Given the description of an element on the screen output the (x, y) to click on. 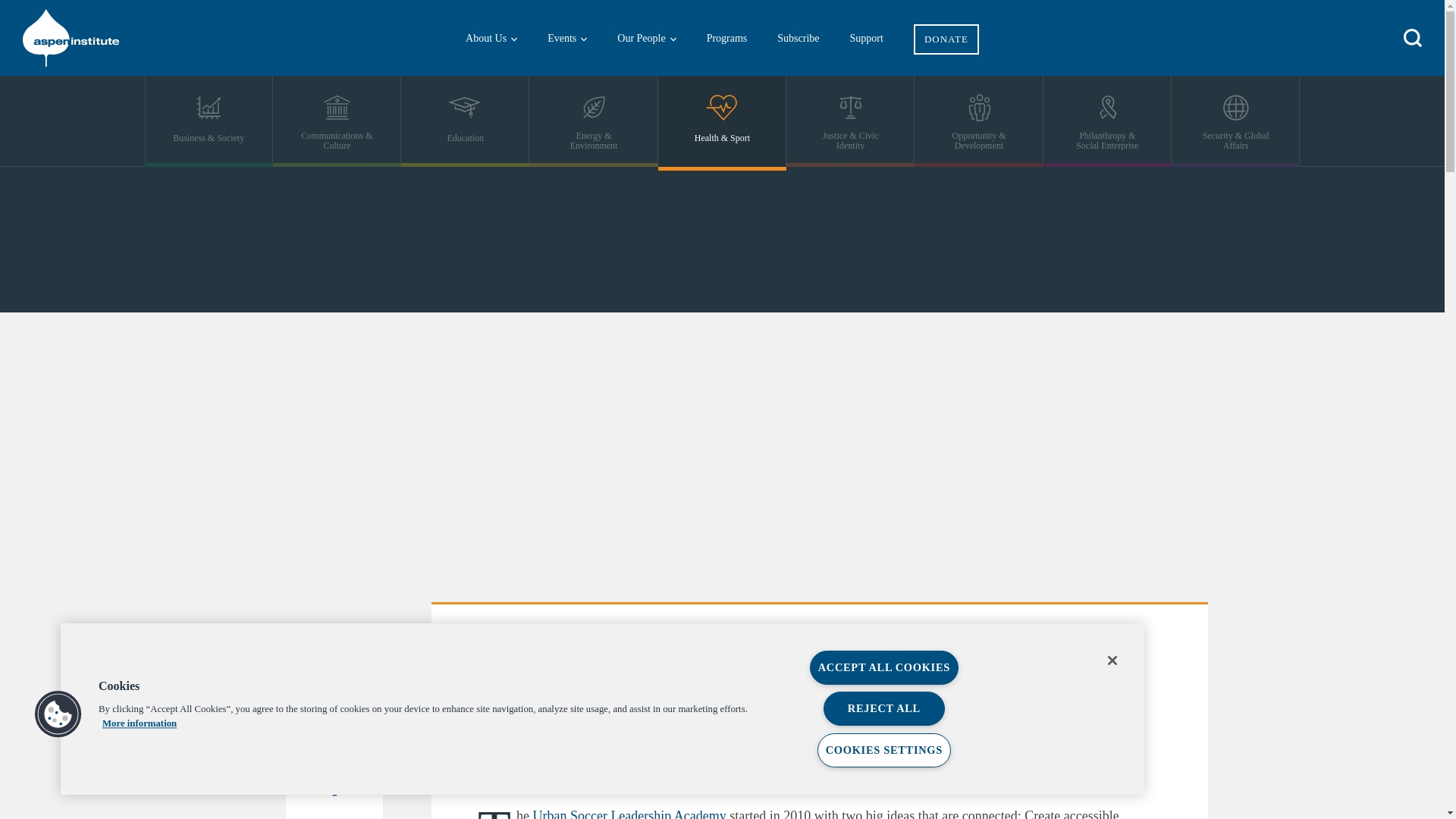
The Aspen Institute (113, 38)
About Us (490, 38)
Programs (726, 38)
Our People (646, 38)
Subscribe (797, 38)
Events (567, 38)
DONATE (946, 27)
Education (465, 121)
